Given the description of an element on the screen output the (x, y) to click on. 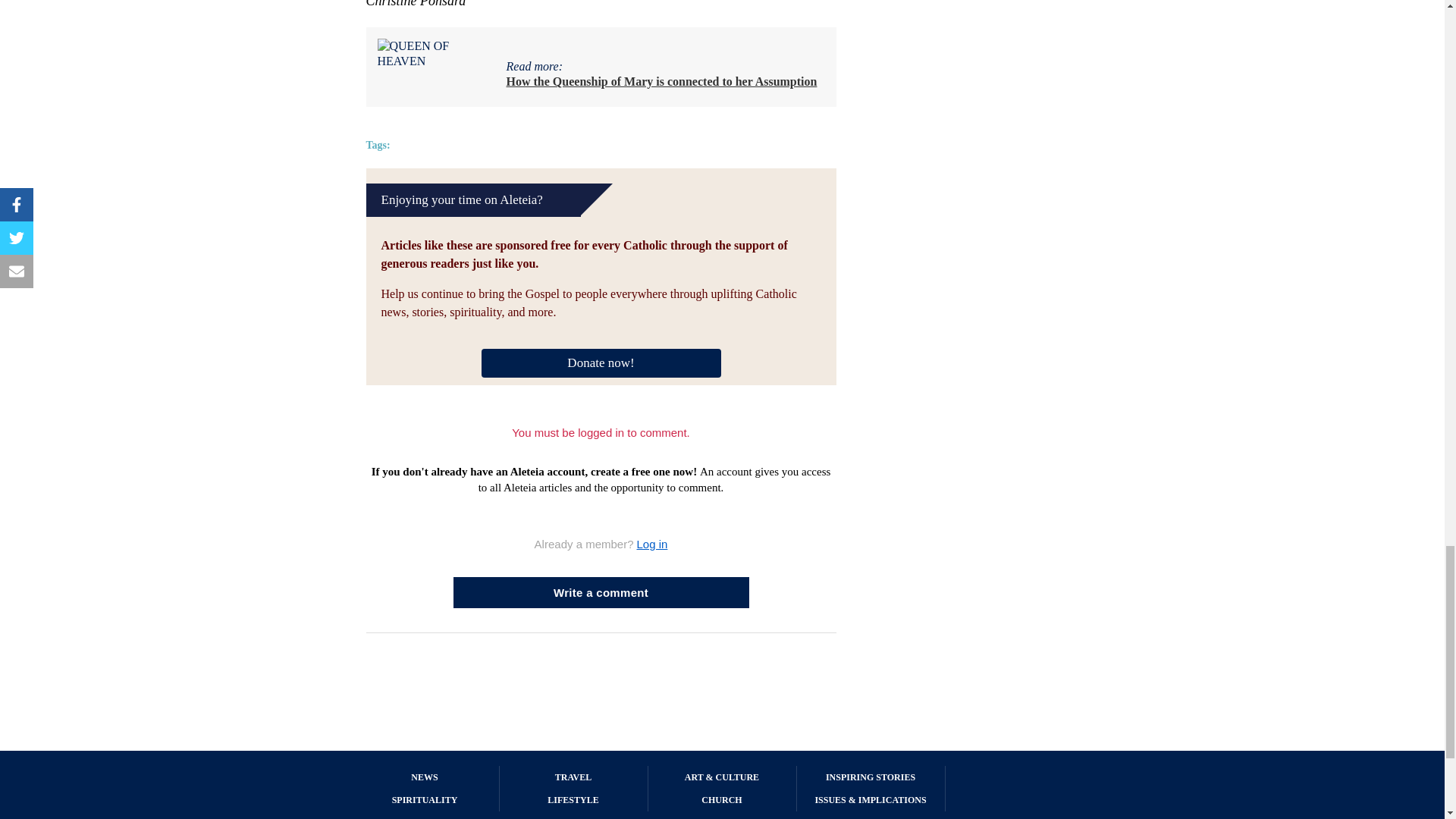
How the Queenship of Mary is connected to her Assumption (661, 81)
